Given the description of an element on the screen output the (x, y) to click on. 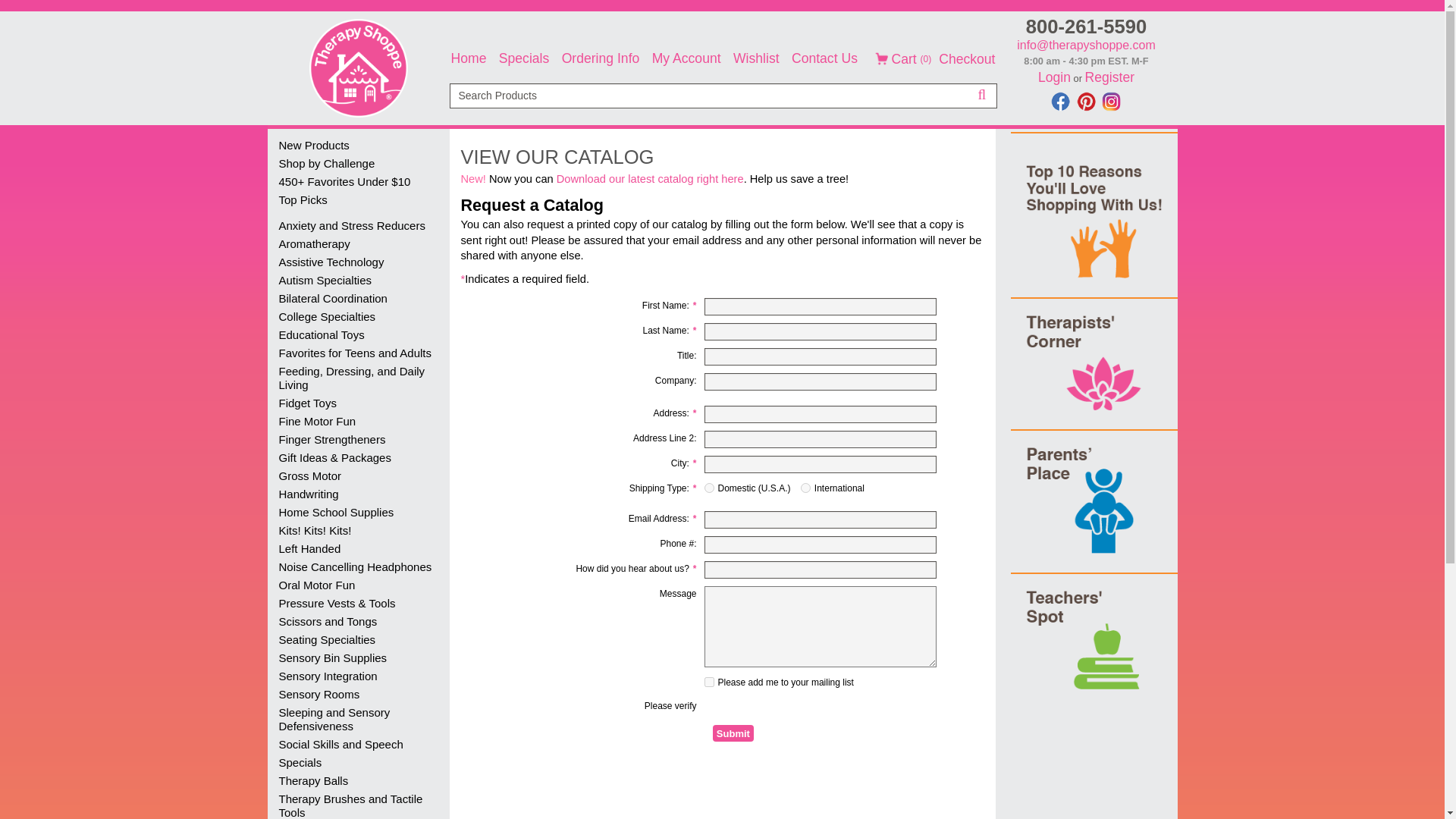
Search Products (721, 95)
International (805, 488)
Please add me to your mailing list (708, 682)
Domestic (708, 488)
Search Products (722, 145)
